Given the description of an element on the screen output the (x, y) to click on. 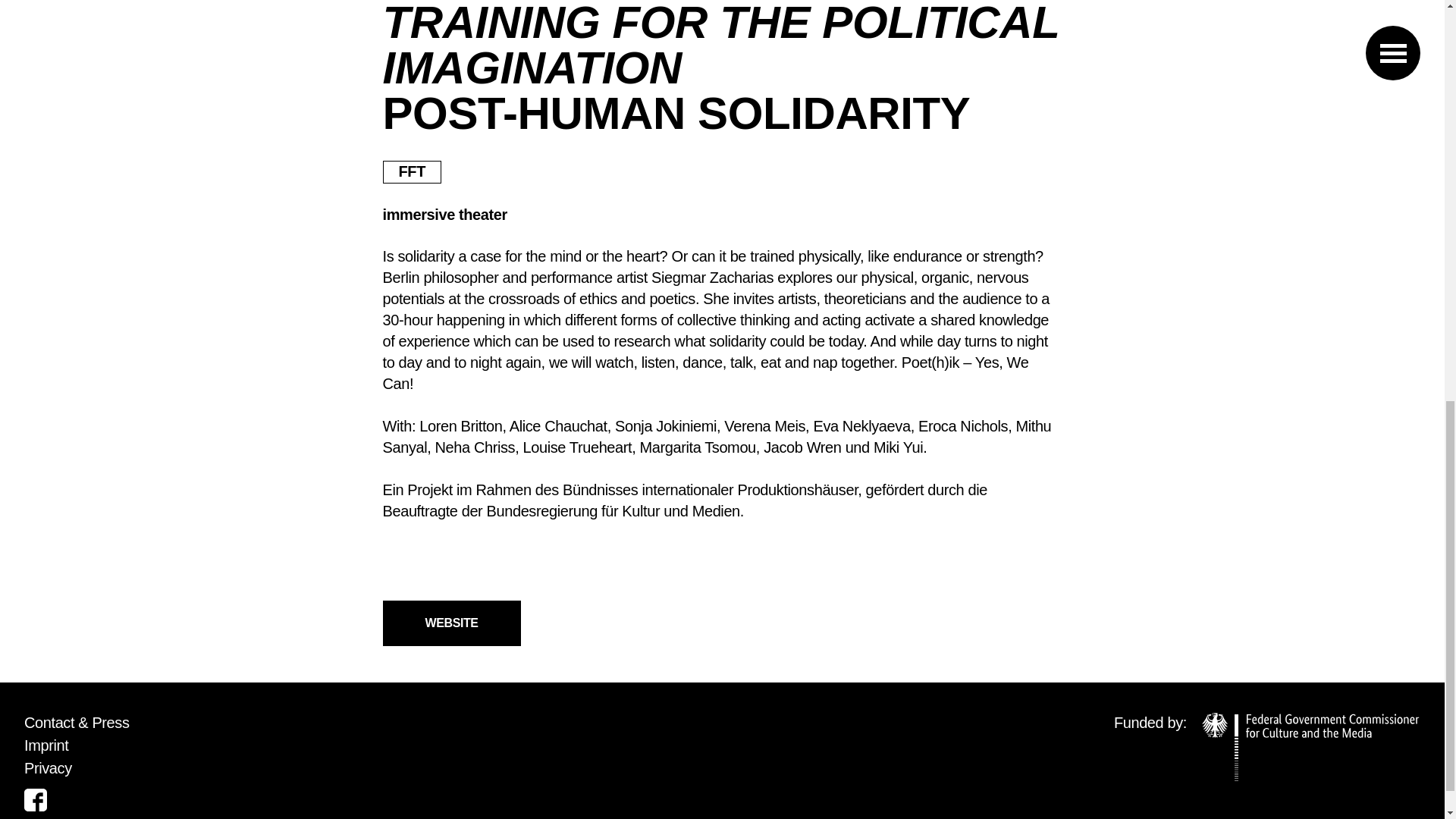
Privacy (47, 768)
Imprint (46, 745)
WEBSITE (450, 623)
Facebook (35, 799)
FFT (411, 171)
